Given the description of an element on the screen output the (x, y) to click on. 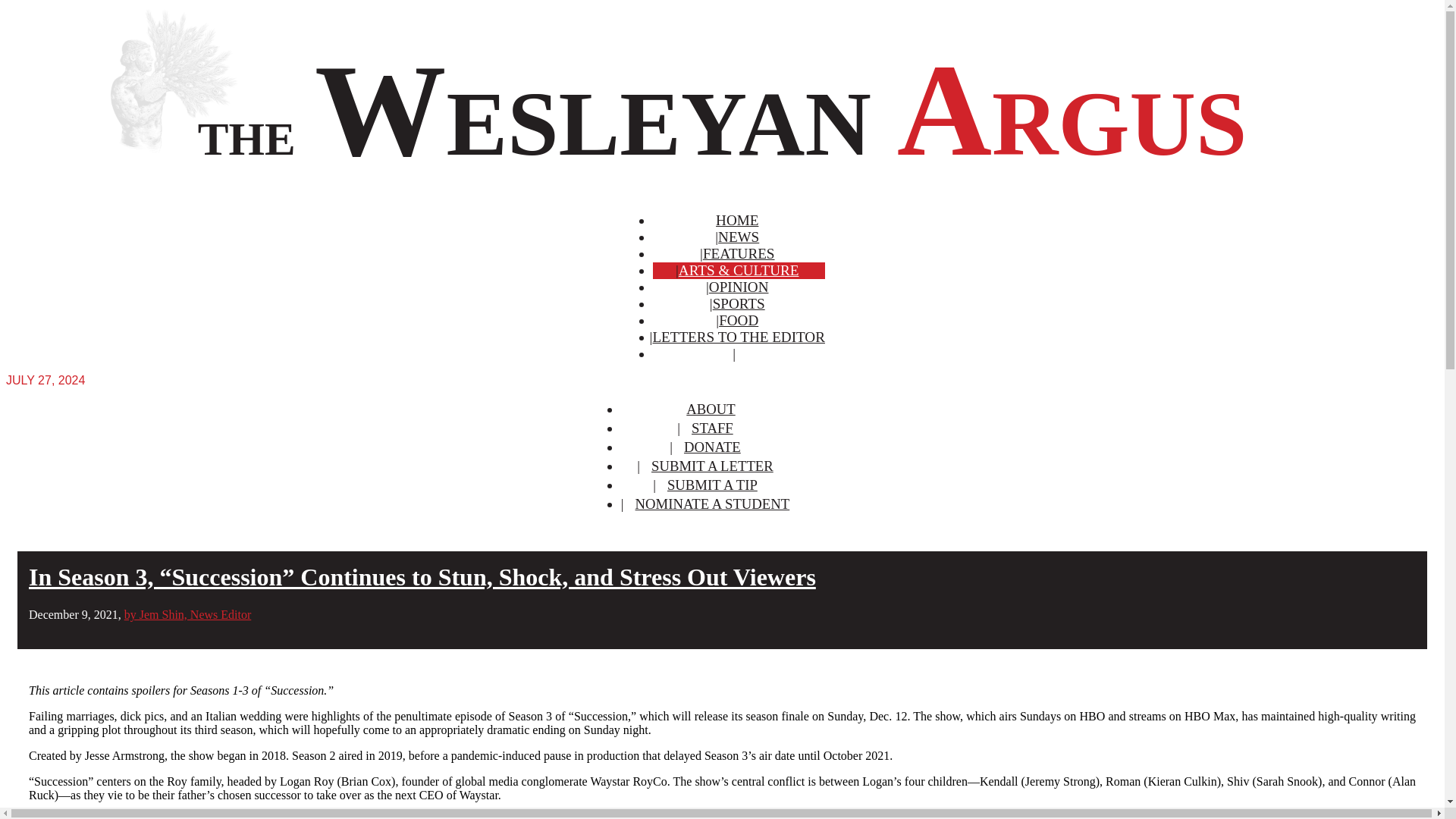
NOMINATE A STUDENT (713, 503)
SUBMIT A TIP (712, 484)
by Jem Shin, News Editor (187, 614)
ABOUT (710, 408)
FOOD (738, 320)
STAFF (711, 427)
LETTERS TO THE EDITOR (738, 336)
SPORTS (739, 303)
OPINION (738, 286)
SUBMIT A LETTER (712, 465)
DONATE (712, 446)
NEWS (737, 236)
HOME (737, 220)
FEATURES (738, 253)
